Given the description of an element on the screen output the (x, y) to click on. 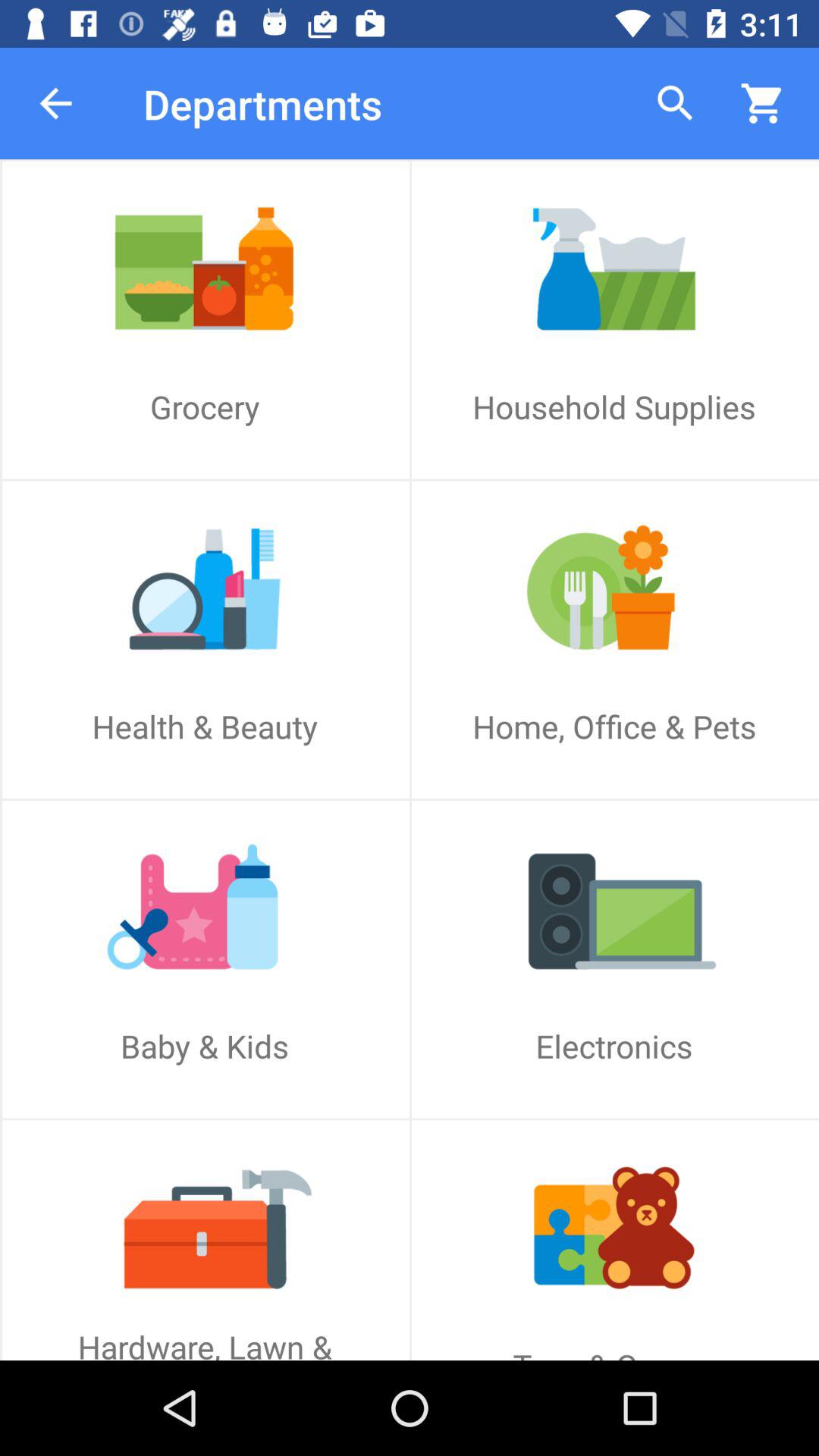
click the icon to the left of the departments app (55, 103)
